Given the description of an element on the screen output the (x, y) to click on. 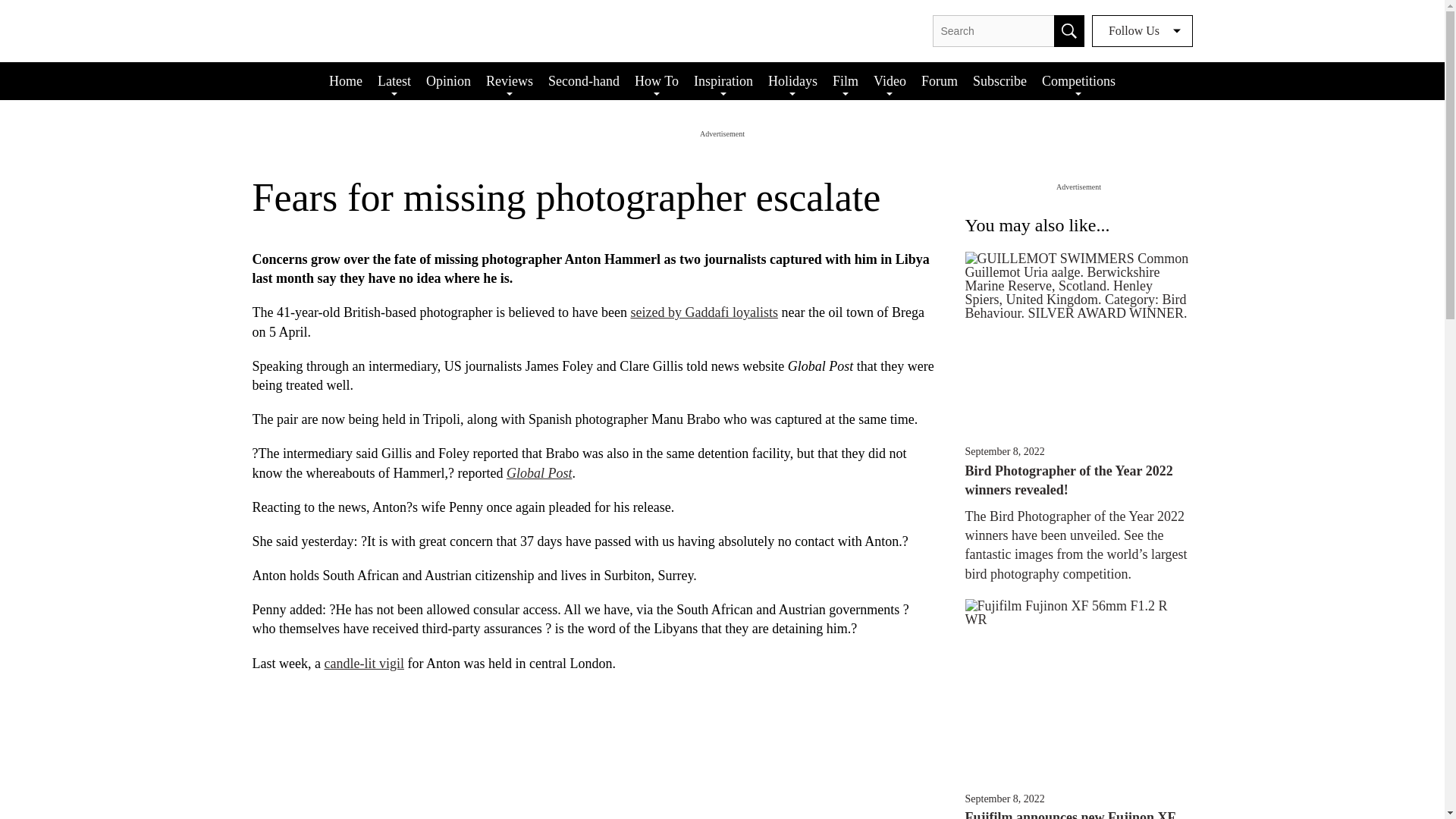
Opinion (449, 80)
Hammerl captured (703, 312)
candle-lit vigil (363, 663)
Second-hand (583, 80)
Inspiration (722, 80)
Home (345, 80)
Search (1069, 30)
Holidays (792, 80)
How To (656, 80)
Latest (394, 80)
